Given the description of an element on the screen output the (x, y) to click on. 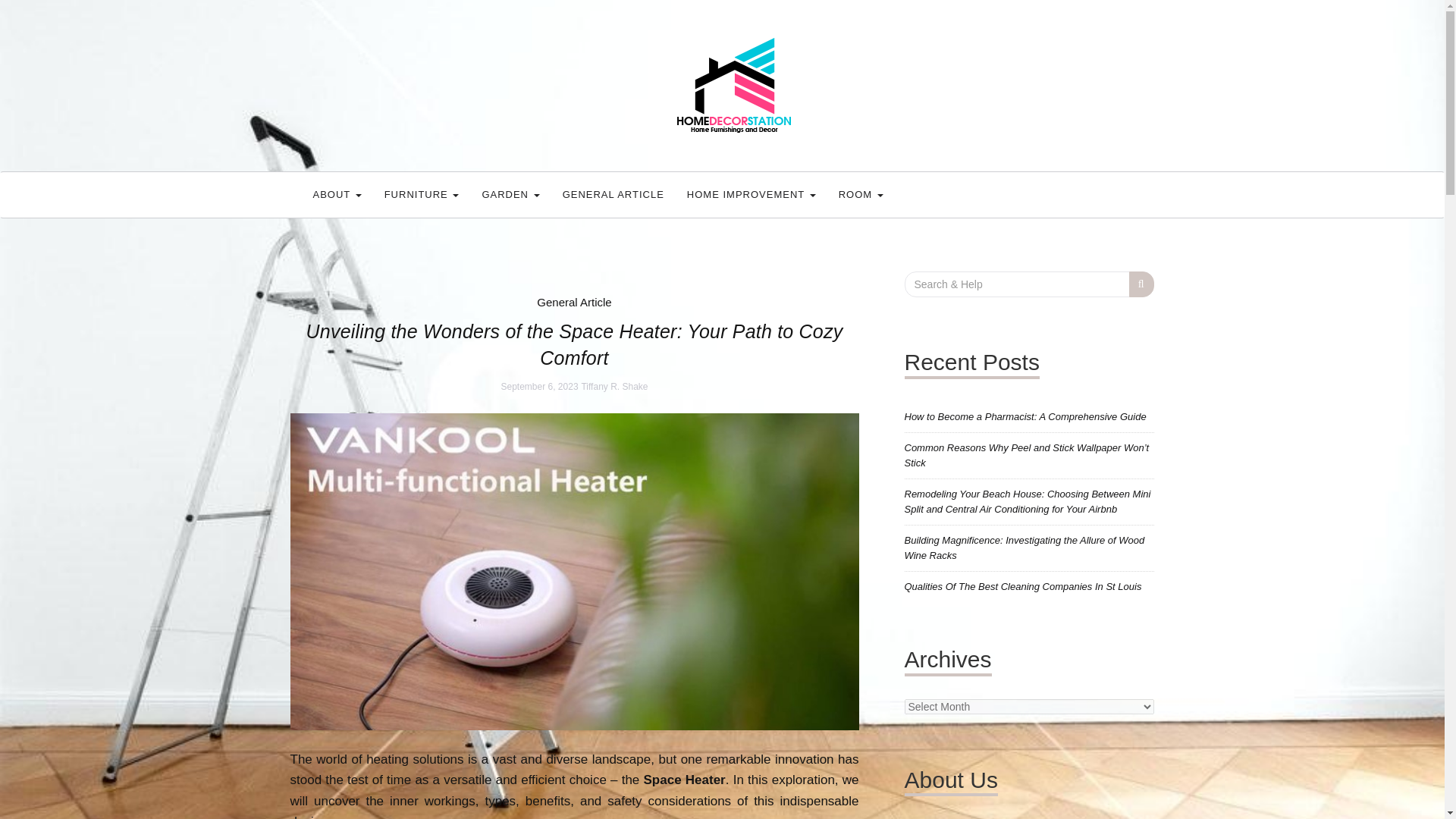
GARDEN (510, 194)
ABOUT (336, 194)
HOME IMPROVEMENT (751, 194)
ROOM (861, 194)
About (336, 194)
FURNITURE (421, 194)
Furniture (421, 194)
GENERAL ARTICLE (613, 194)
